Given the description of an element on the screen output the (x, y) to click on. 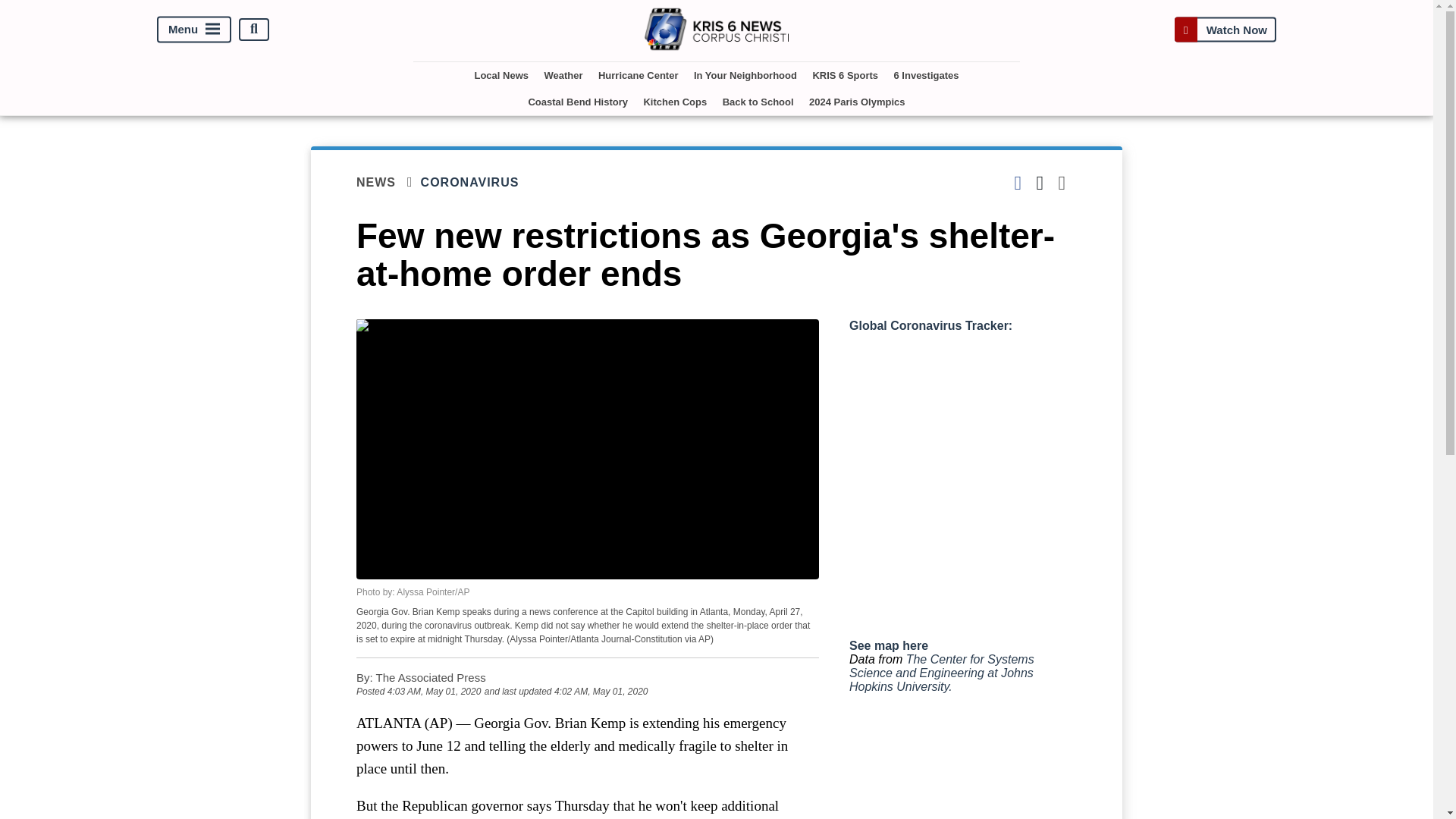
Watch Now (1224, 29)
Menu (194, 28)
